Given the description of an element on the screen output the (x, y) to click on. 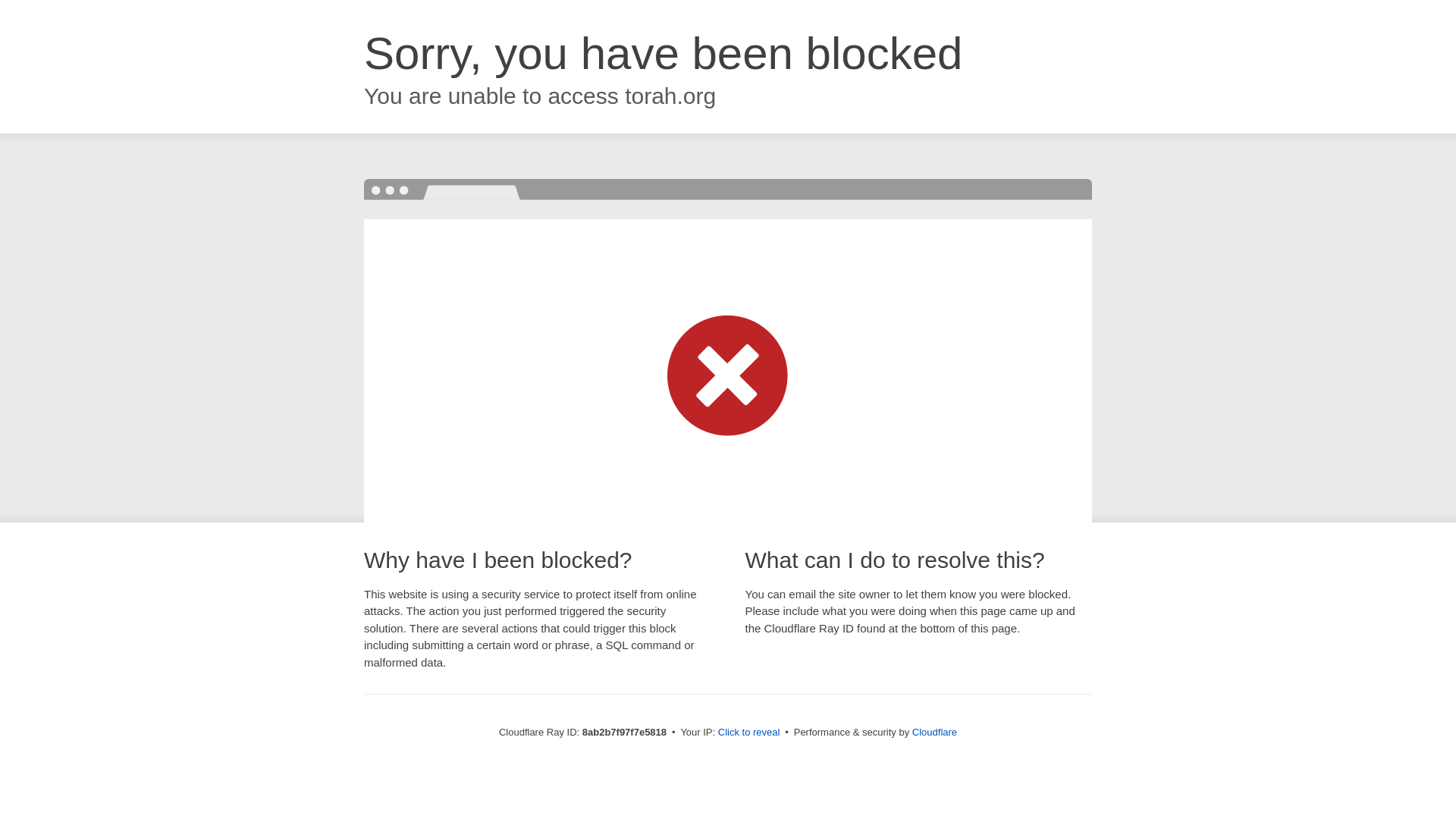
Click to reveal (748, 732)
Cloudflare (934, 731)
